Given the description of an element on the screen output the (x, y) to click on. 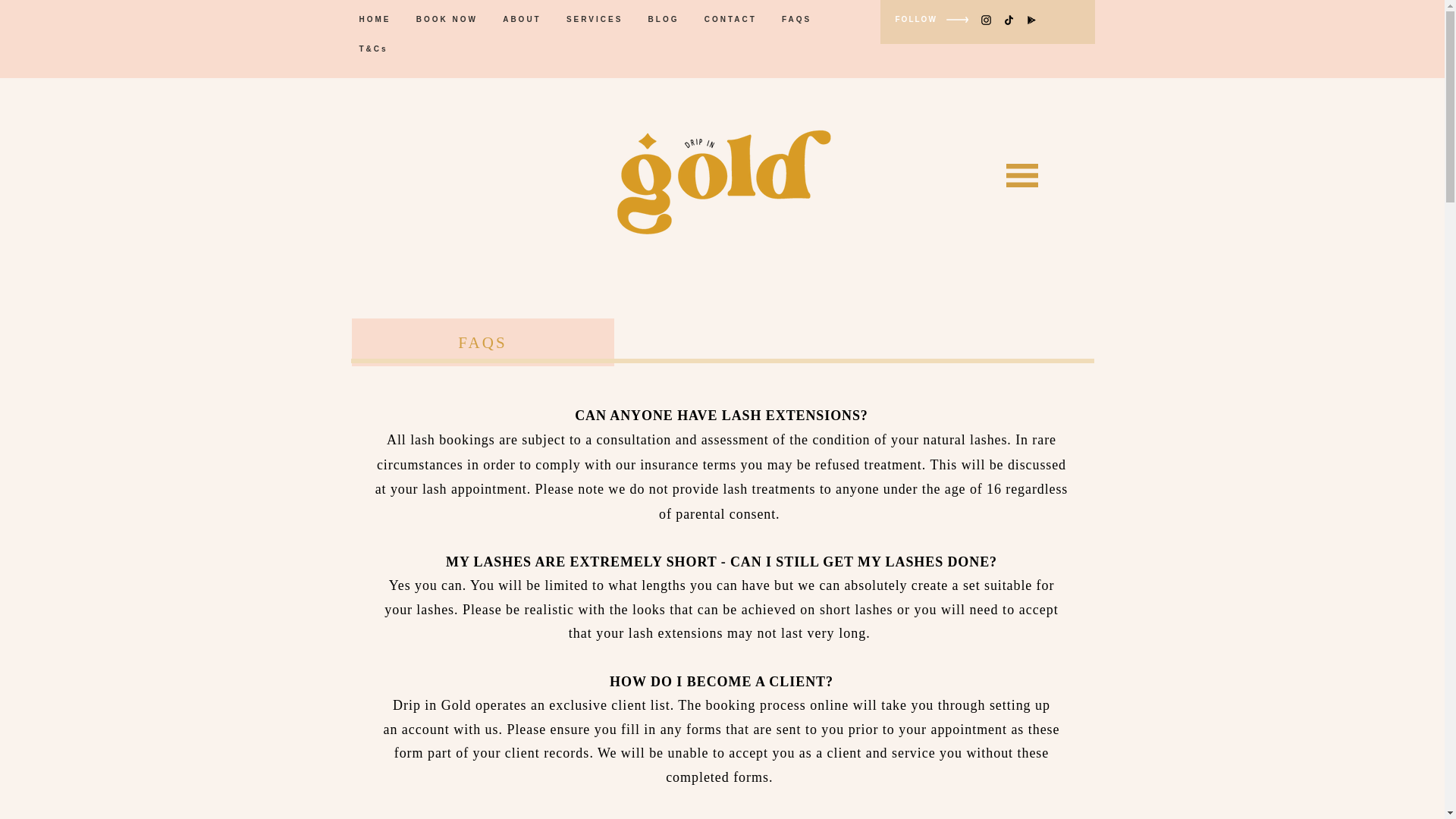
SERVICES (596, 19)
BLOG (665, 19)
BOOK NOW (449, 19)
HOME (377, 19)
FAQS (798, 19)
CONTACT (732, 19)
ABOUT (524, 19)
